Given the description of an element on the screen output the (x, y) to click on. 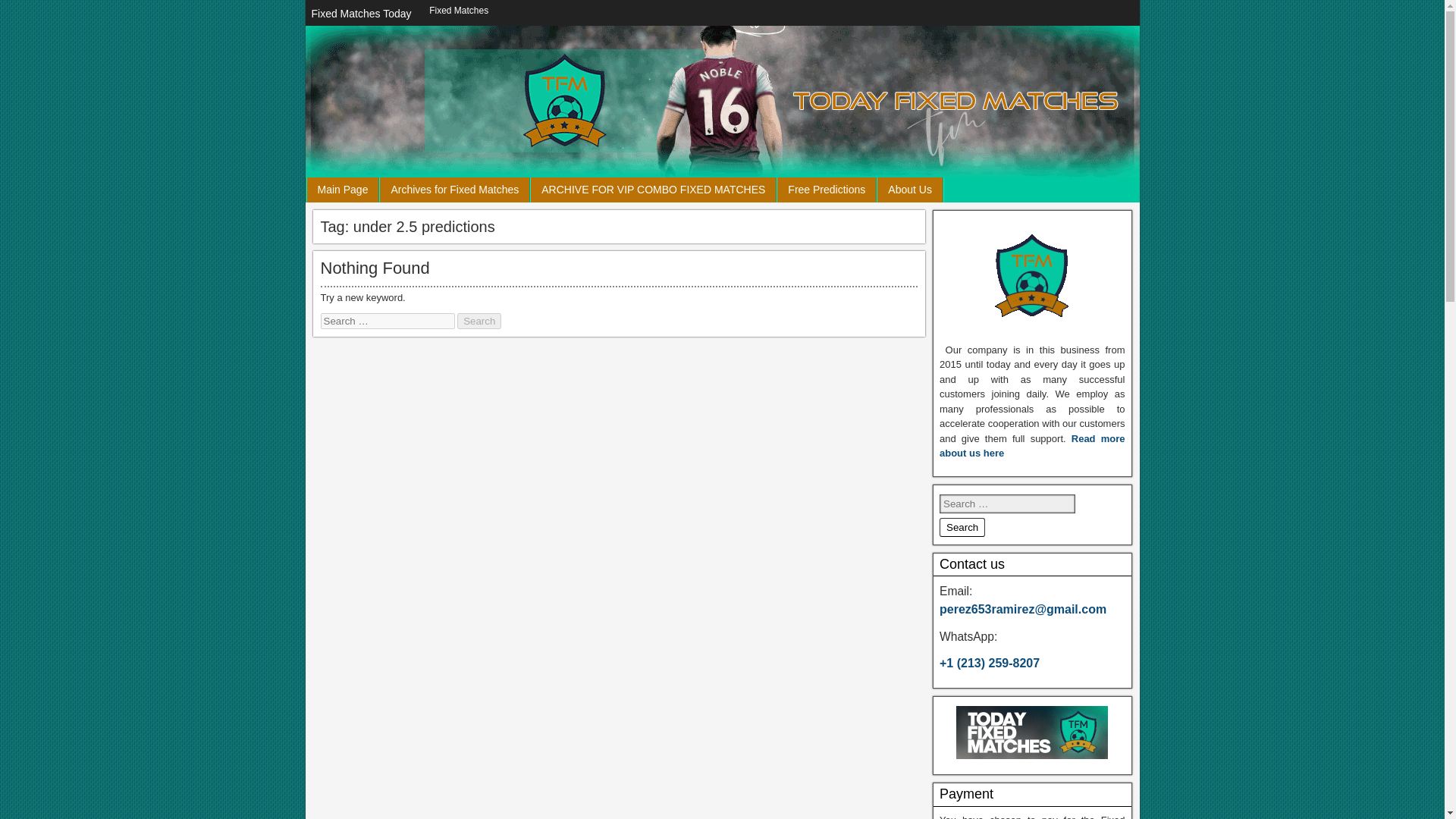
Search (478, 320)
Search (478, 320)
Fixed Matches Today (360, 13)
Archives for Fixed Matches (454, 189)
Main Page (341, 189)
Search (962, 527)
Read more about us here (1032, 446)
Search (962, 527)
About Us (909, 189)
Search (962, 527)
ARCHIVE FOR VIP COMBO FIXED MATCHES (653, 189)
Search (478, 320)
Free Predictions (826, 189)
